Given the description of an element on the screen output the (x, y) to click on. 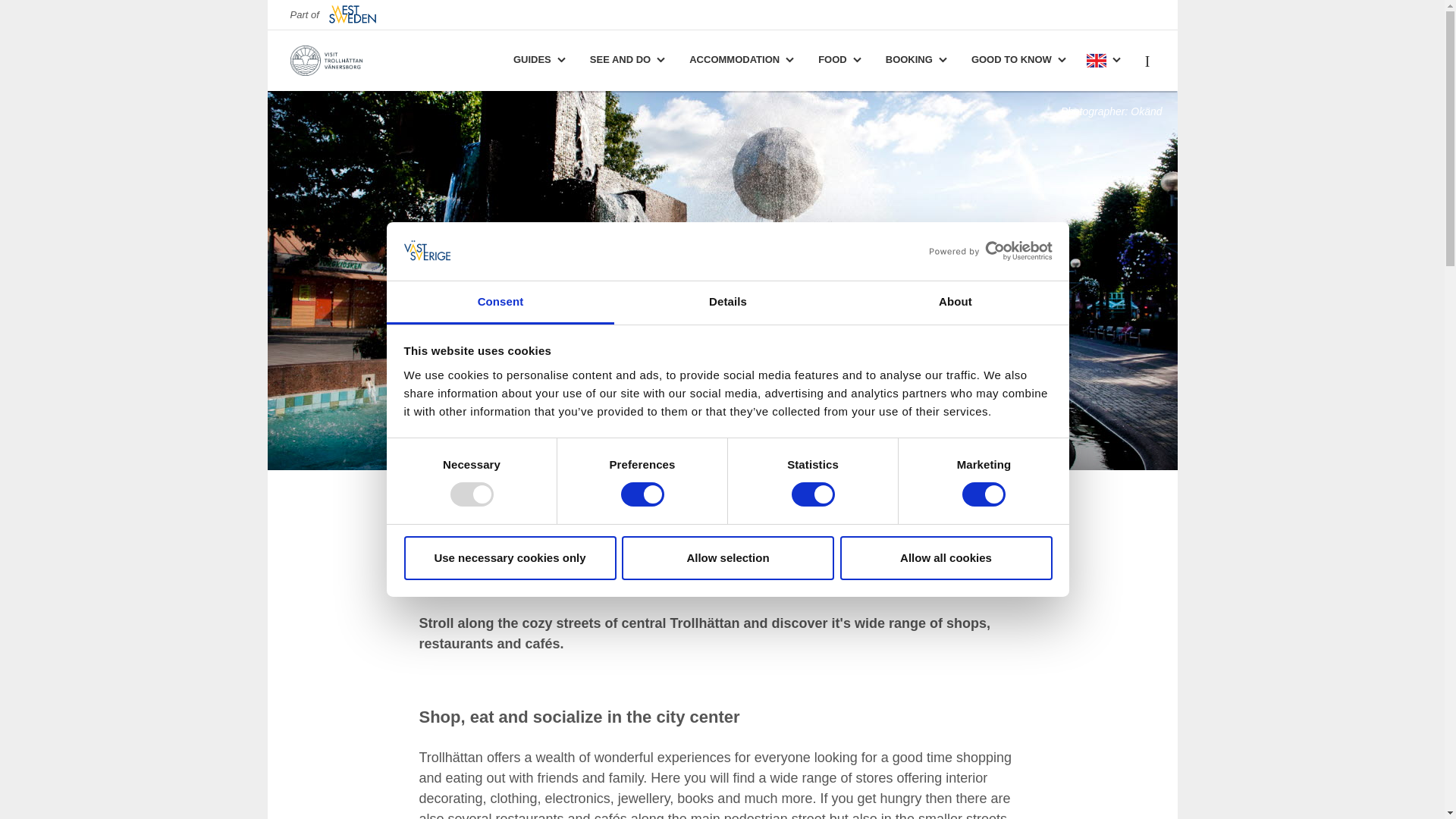
About (954, 302)
Details (727, 302)
Consent (500, 302)
